Given the description of an element on the screen output the (x, y) to click on. 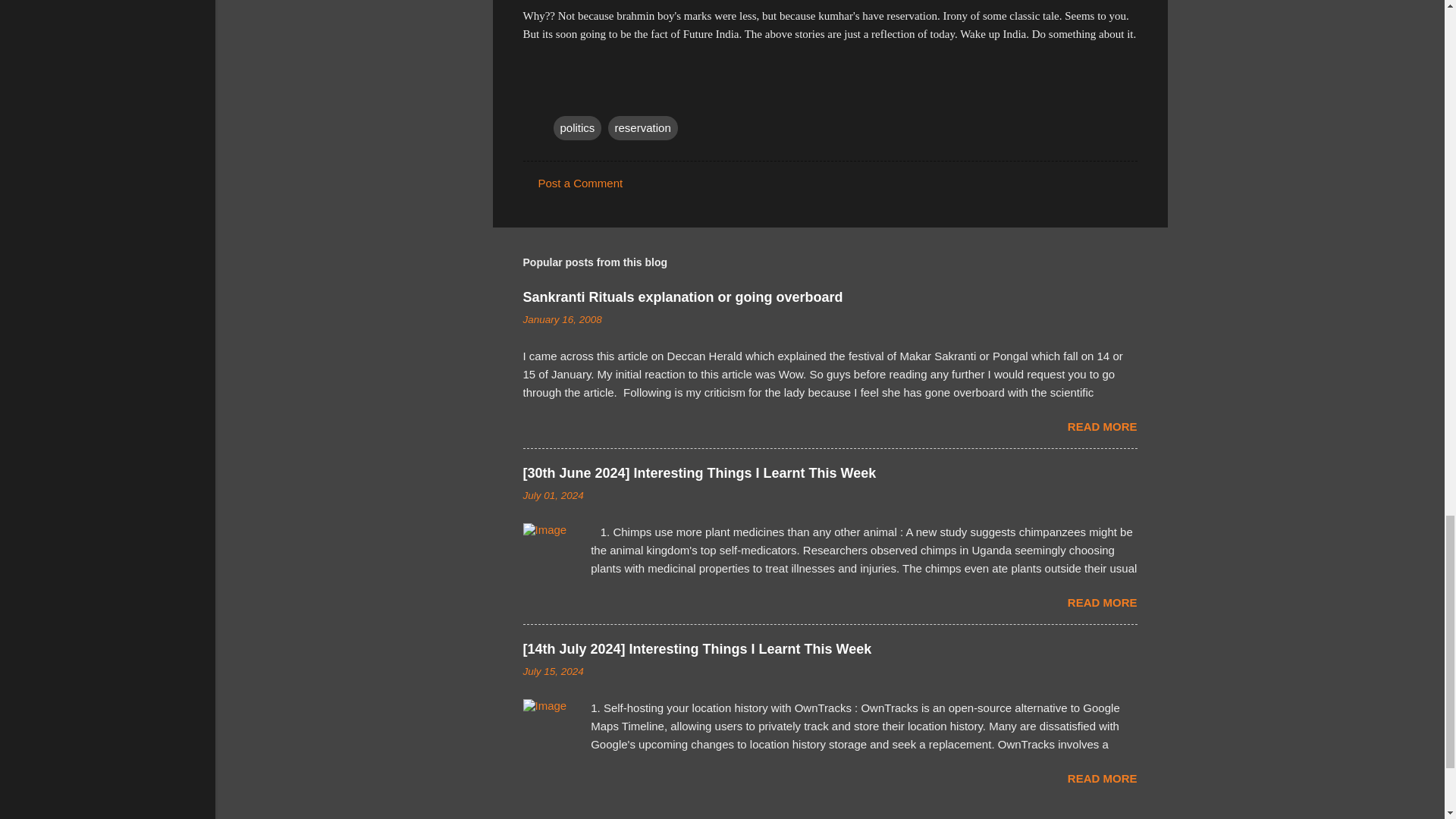
Email Post (562, 97)
READ MORE (1102, 602)
July 01, 2024 (552, 495)
politics (577, 127)
permanent link (562, 319)
January 16, 2008 (562, 319)
reservation (643, 127)
READ MORE (1102, 778)
READ MORE (1102, 426)
July 15, 2024 (552, 671)
Sankranti Rituals explanation or going overboard (682, 296)
Post a Comment (580, 182)
